Given the description of an element on the screen output the (x, y) to click on. 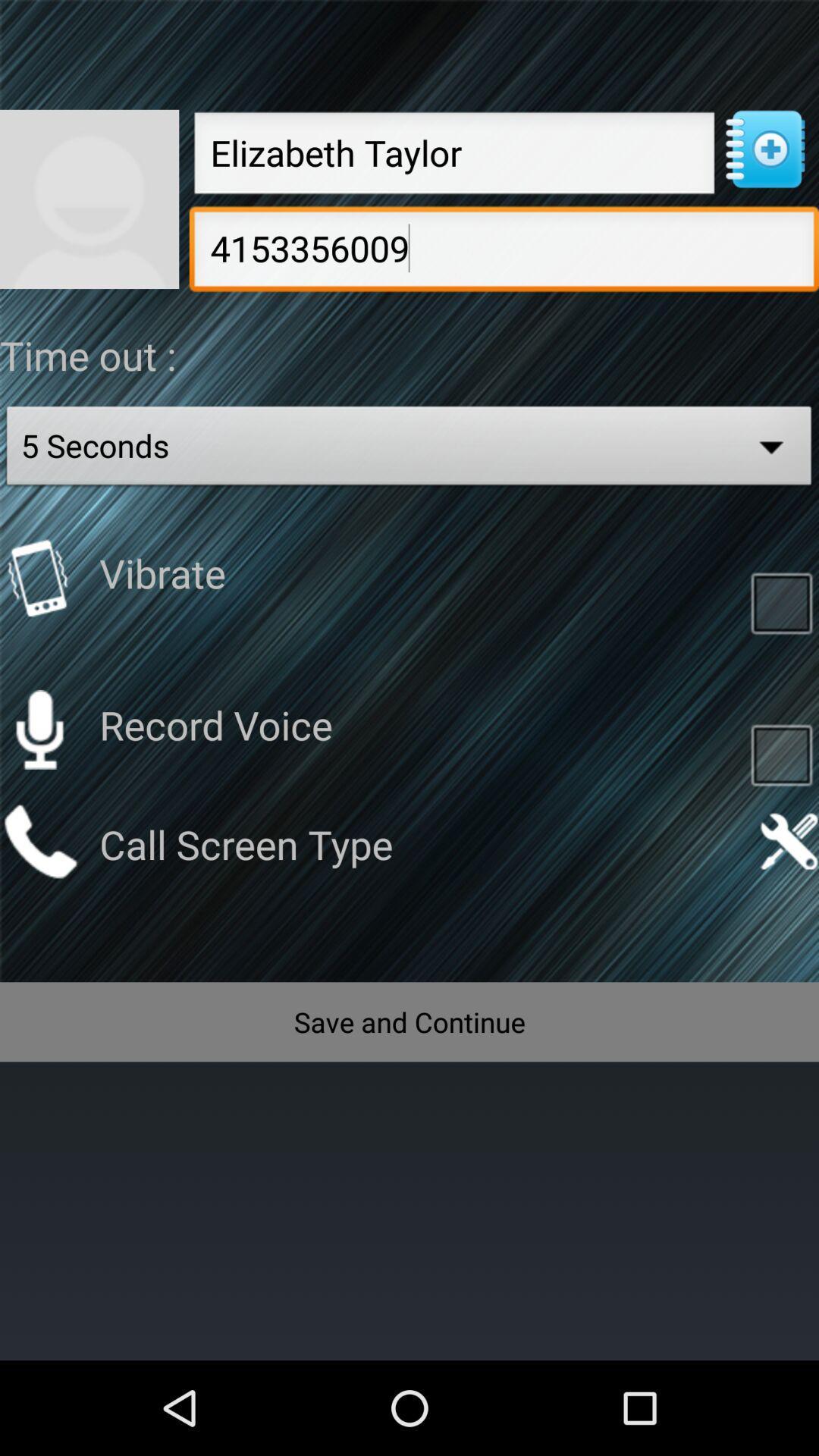
enable record voice option (781, 753)
